Given the description of an element on the screen output the (x, y) to click on. 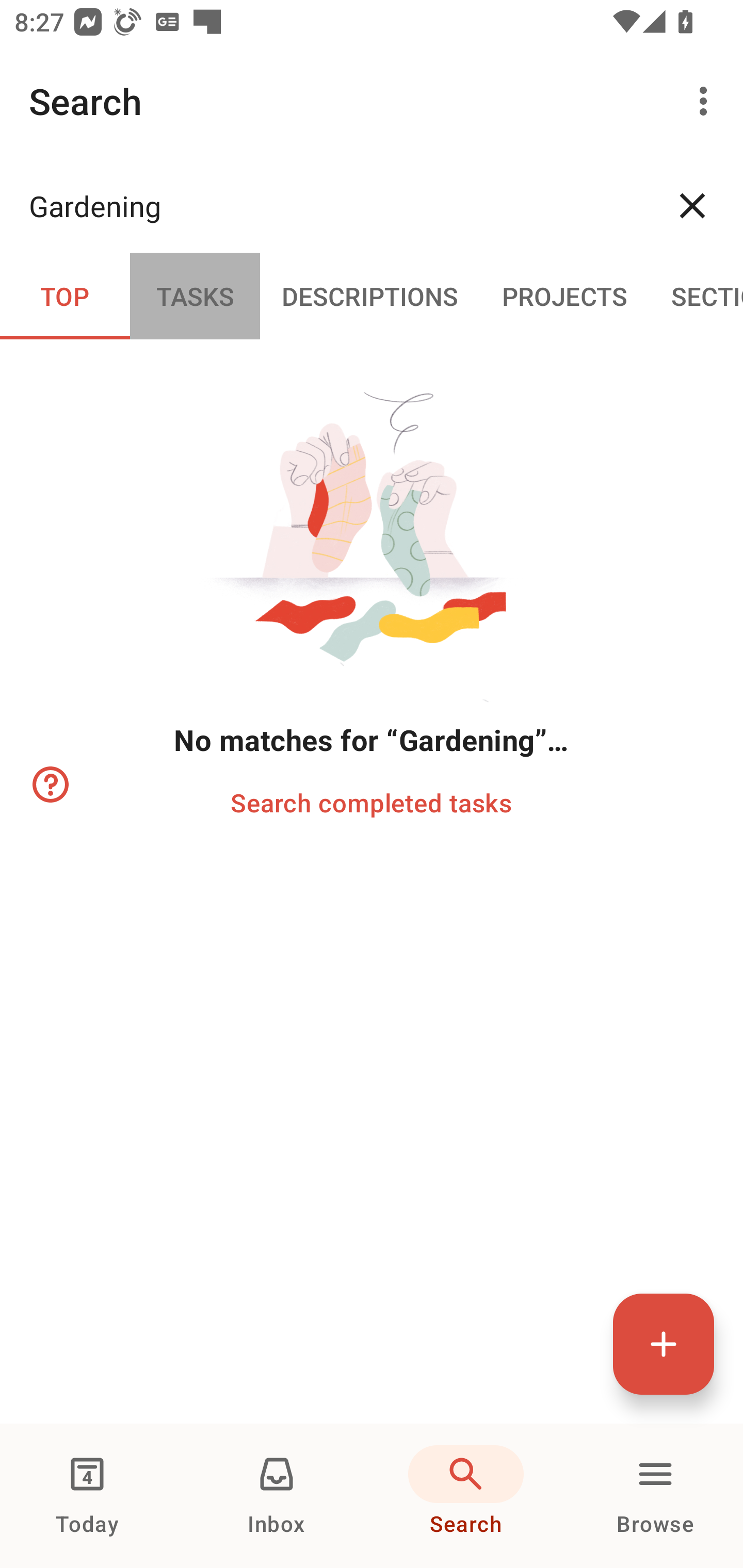
Search More options (371, 100)
More options (706, 101)
Gardening (335, 205)
Clear (692, 205)
Tasks TASKS (195, 295)
Descriptions DESCRIPTIONS (370, 295)
Projects PROJECTS (564, 295)
Learn how to refine your search (48, 784)
Search completed tasks (370, 801)
Quick add (663, 1343)
Today (87, 1495)
Inbox (276, 1495)
Browse (655, 1495)
